Given the description of an element on the screen output the (x, y) to click on. 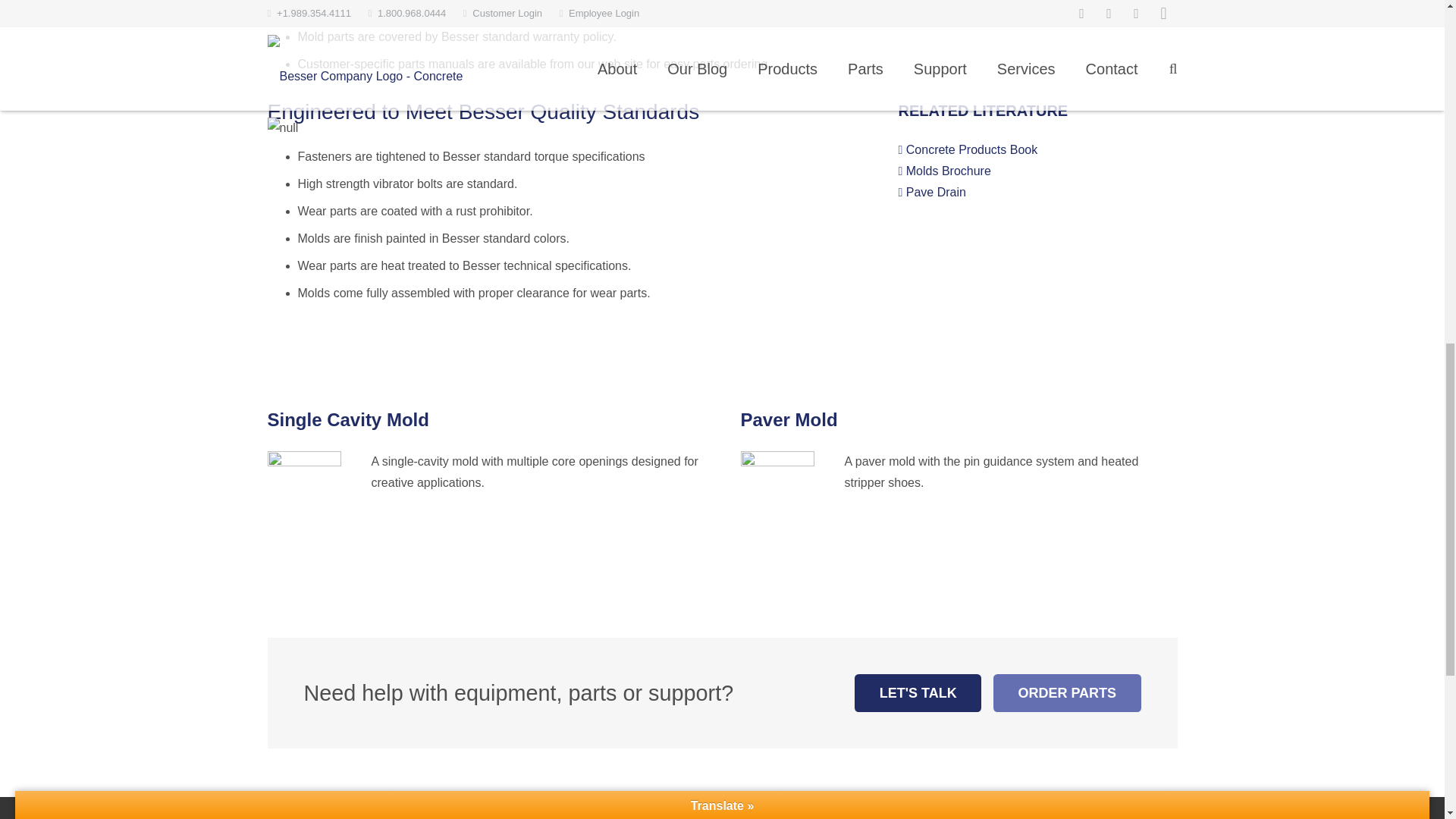
Back to top (1413, 30)
